Given the description of an element on the screen output the (x, y) to click on. 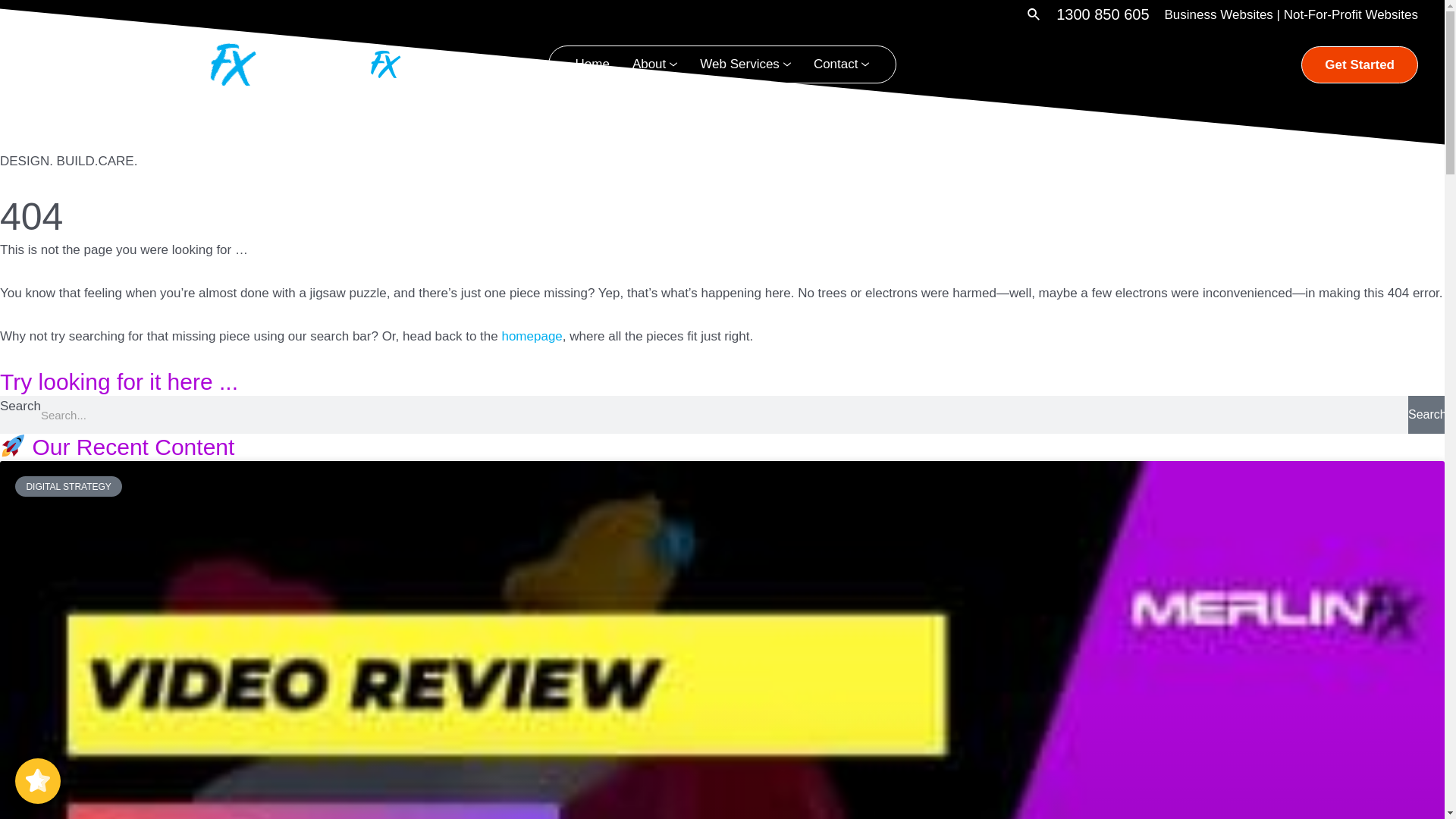
Search Element type: text (1034, 15)
Search Element type: text (1426, 414)
Not-For-Profit Websites Element type: text (1350, 14)
Web Services Element type: text (745, 63)
Contact Element type: text (841, 63)
About Element type: text (654, 63)
1300 850 605 Element type: text (1102, 14)
Home Element type: text (592, 63)
homepage Element type: text (531, 336)
Business Websites Element type: text (1218, 14)
Get Started Element type: text (1359, 63)
